Given the description of an element on the screen output the (x, y) to click on. 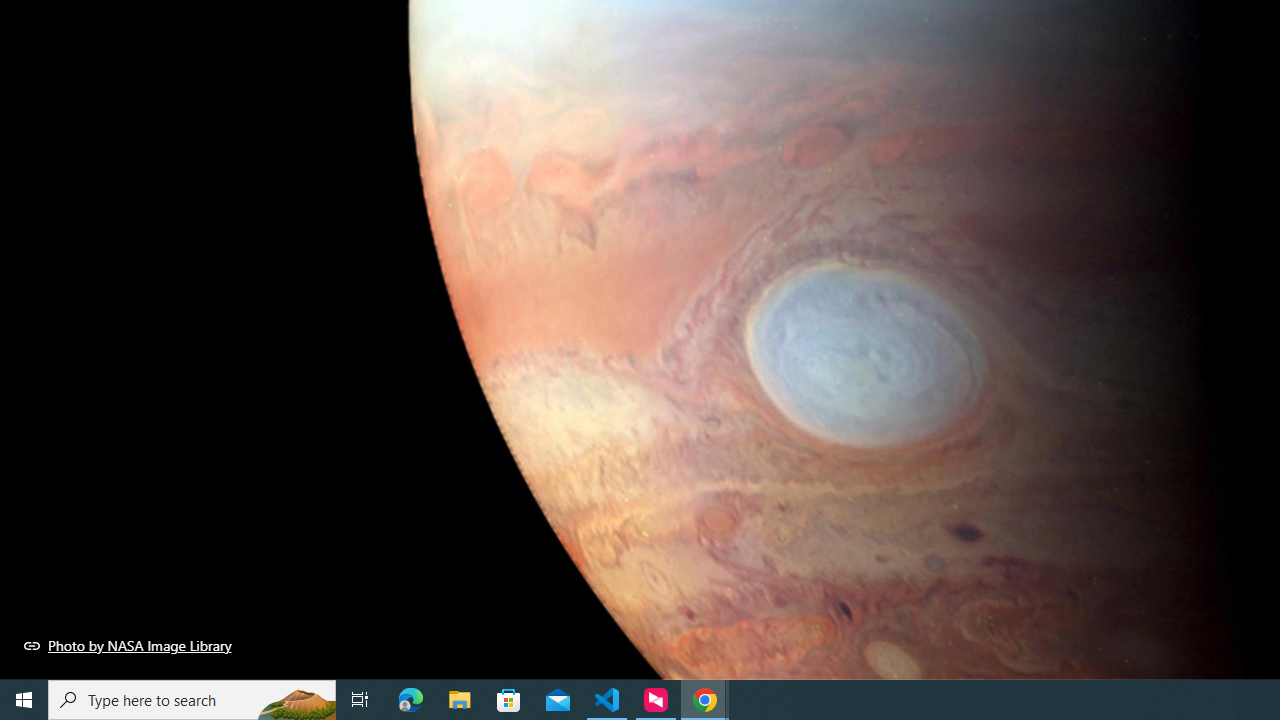
Photo by NASA Image Library (127, 645)
